Given the description of an element on the screen output the (x, y) to click on. 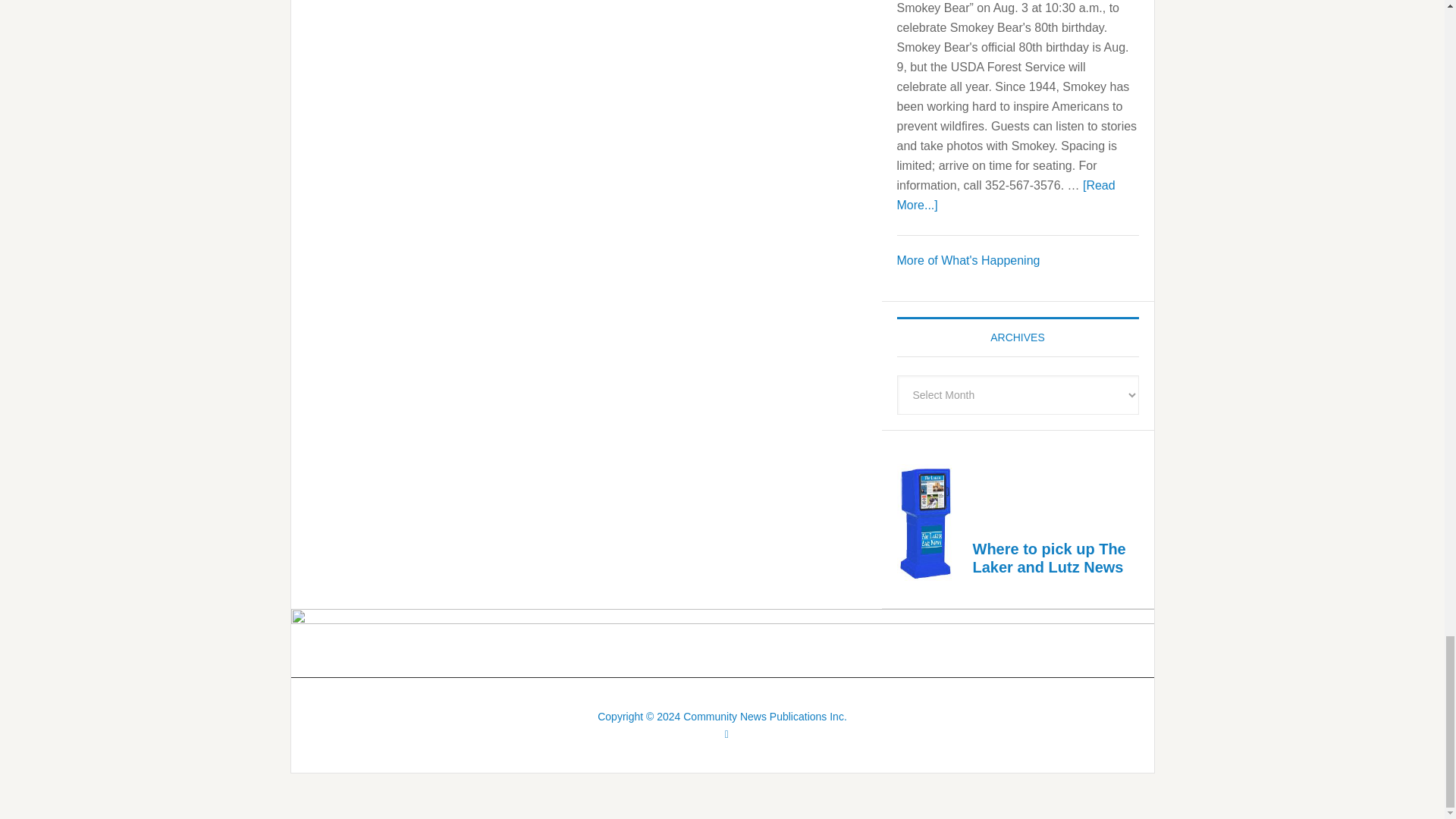
What's Happening (967, 259)
